Given the description of an element on the screen output the (x, y) to click on. 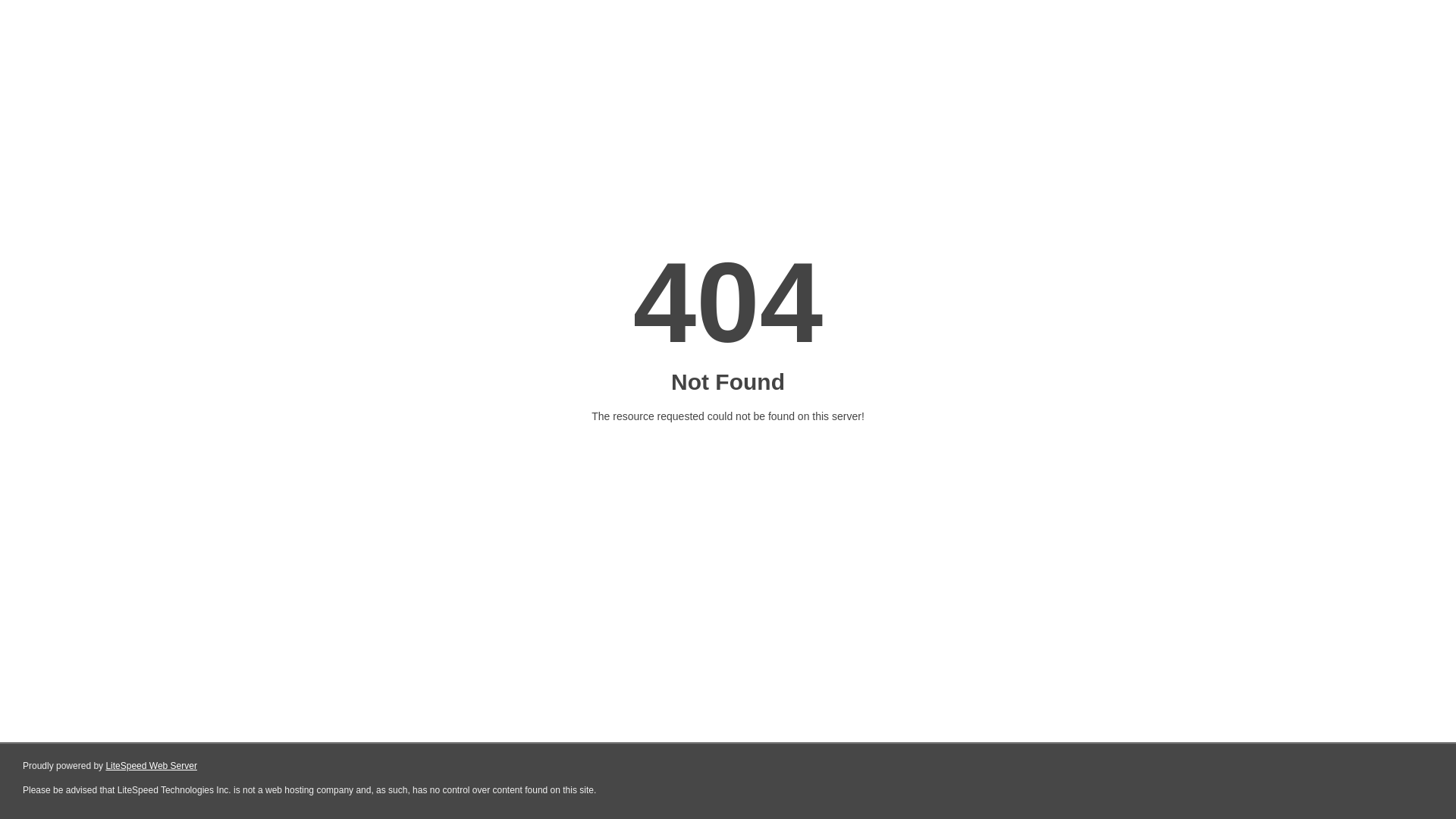
LiteSpeed Web Server Element type: text (151, 765)
